Given the description of an element on the screen output the (x, y) to click on. 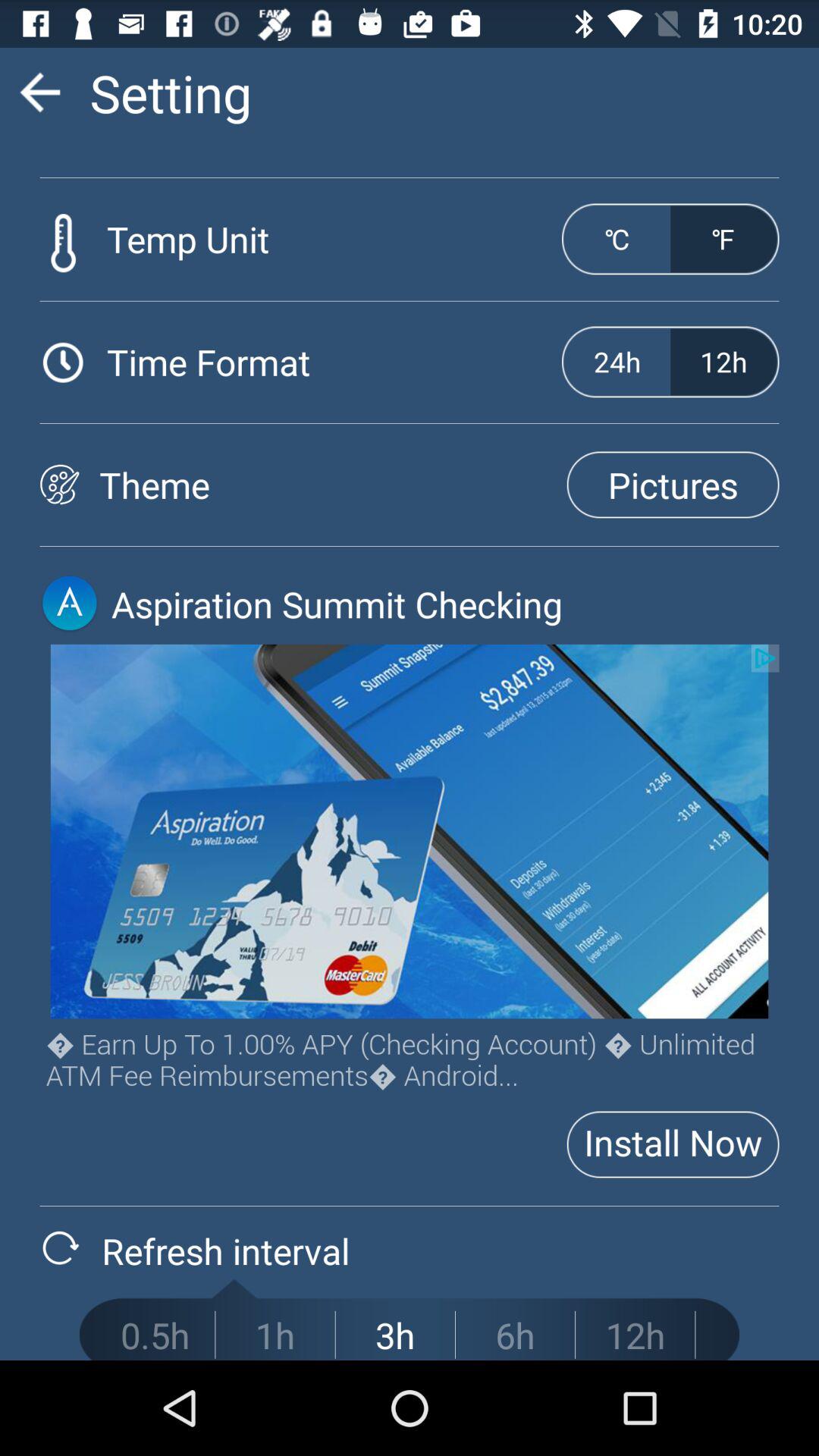
the entity shown above 12h (723, 239)
click on the entity above 24h (617, 239)
click on the button which is next to the 24h (723, 361)
the text 3h shown in between 1h and 6h (395, 1334)
select 1h at the bottom of the page (274, 1334)
select 6h at the bottom of the page (514, 1334)
click on image below aspiration summit checking (409, 831)
the blue colored icon shown above the image (69, 604)
